Given the description of an element on the screen output the (x, y) to click on. 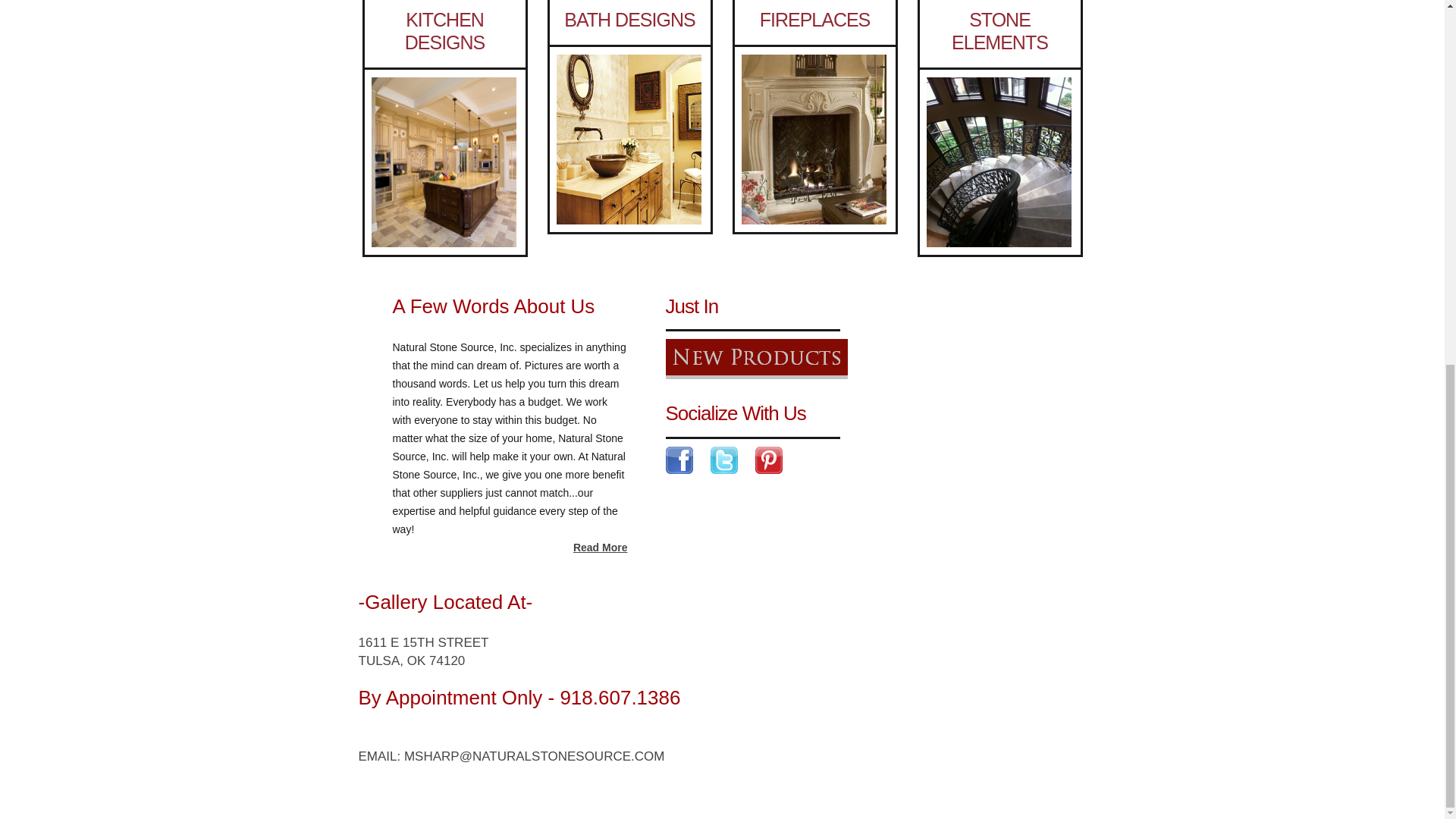
NewProducts (756, 359)
Read More (600, 547)
